Given the description of an element on the screen output the (x, y) to click on. 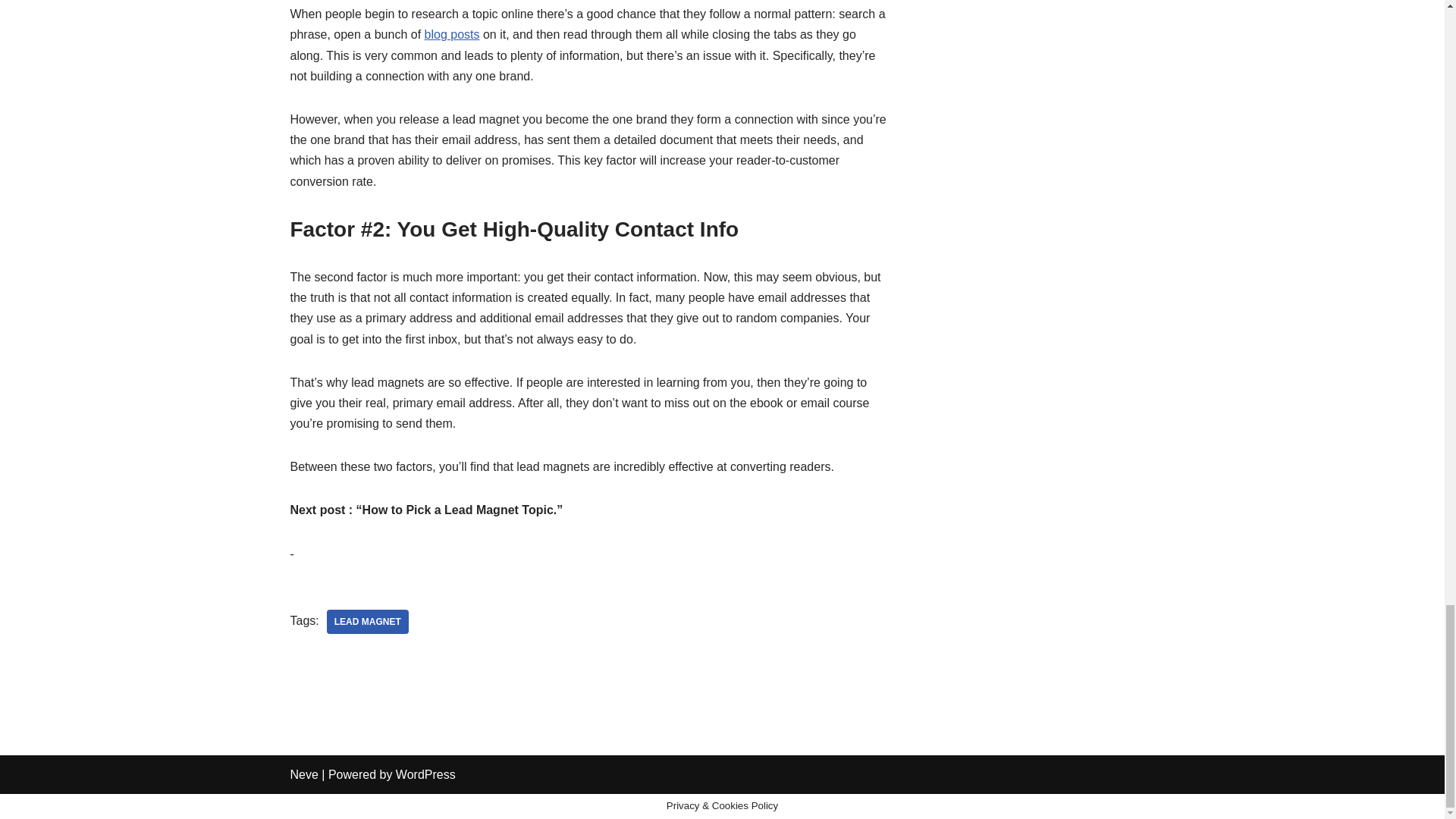
lead magnet (367, 621)
blog posts (452, 33)
LEAD MAGNET (367, 621)
